Given the description of an element on the screen output the (x, y) to click on. 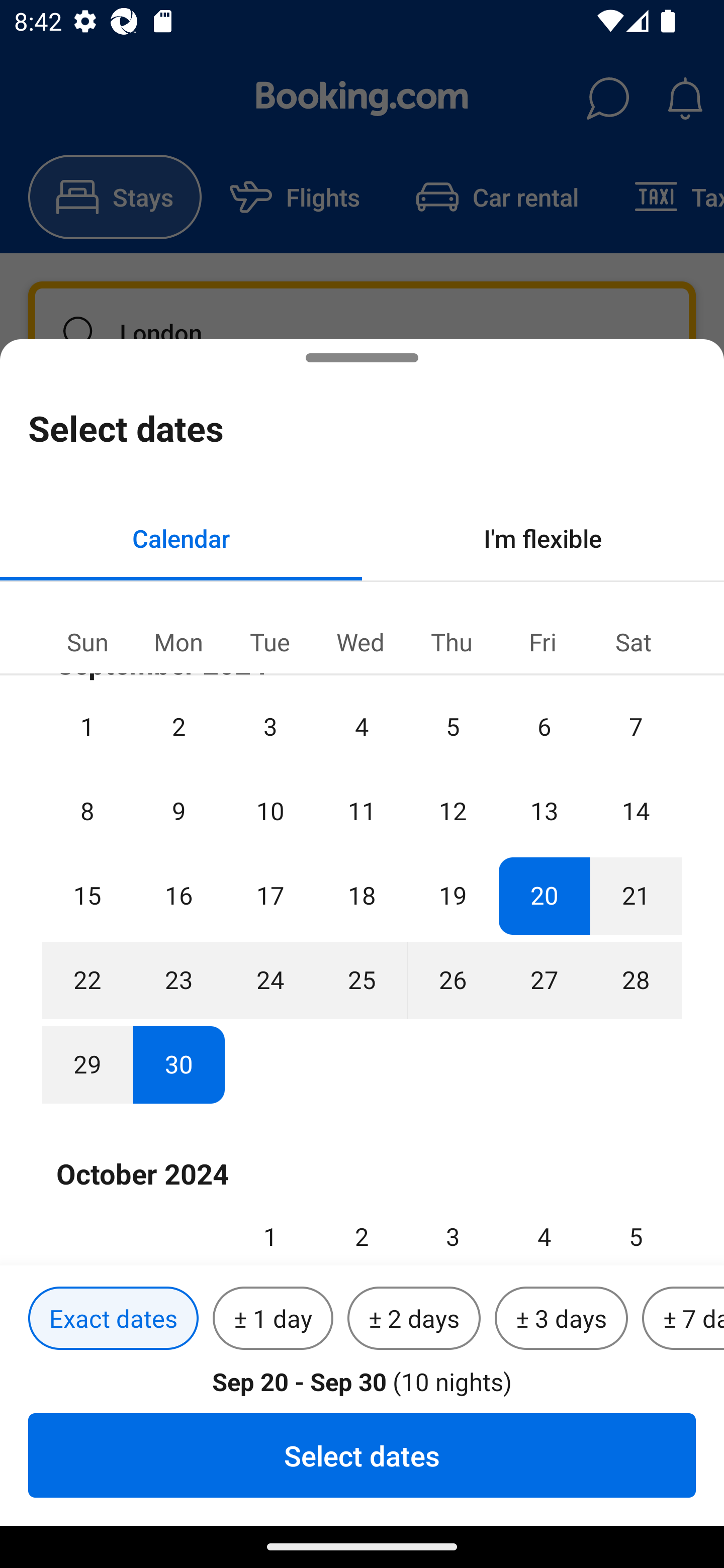
I'm flexible (543, 537)
Exact dates (113, 1318)
± 1 day (272, 1318)
± 2 days (413, 1318)
± 3 days (560, 1318)
± 7 days (683, 1318)
Select dates (361, 1454)
